Given the description of an element on the screen output the (x, y) to click on. 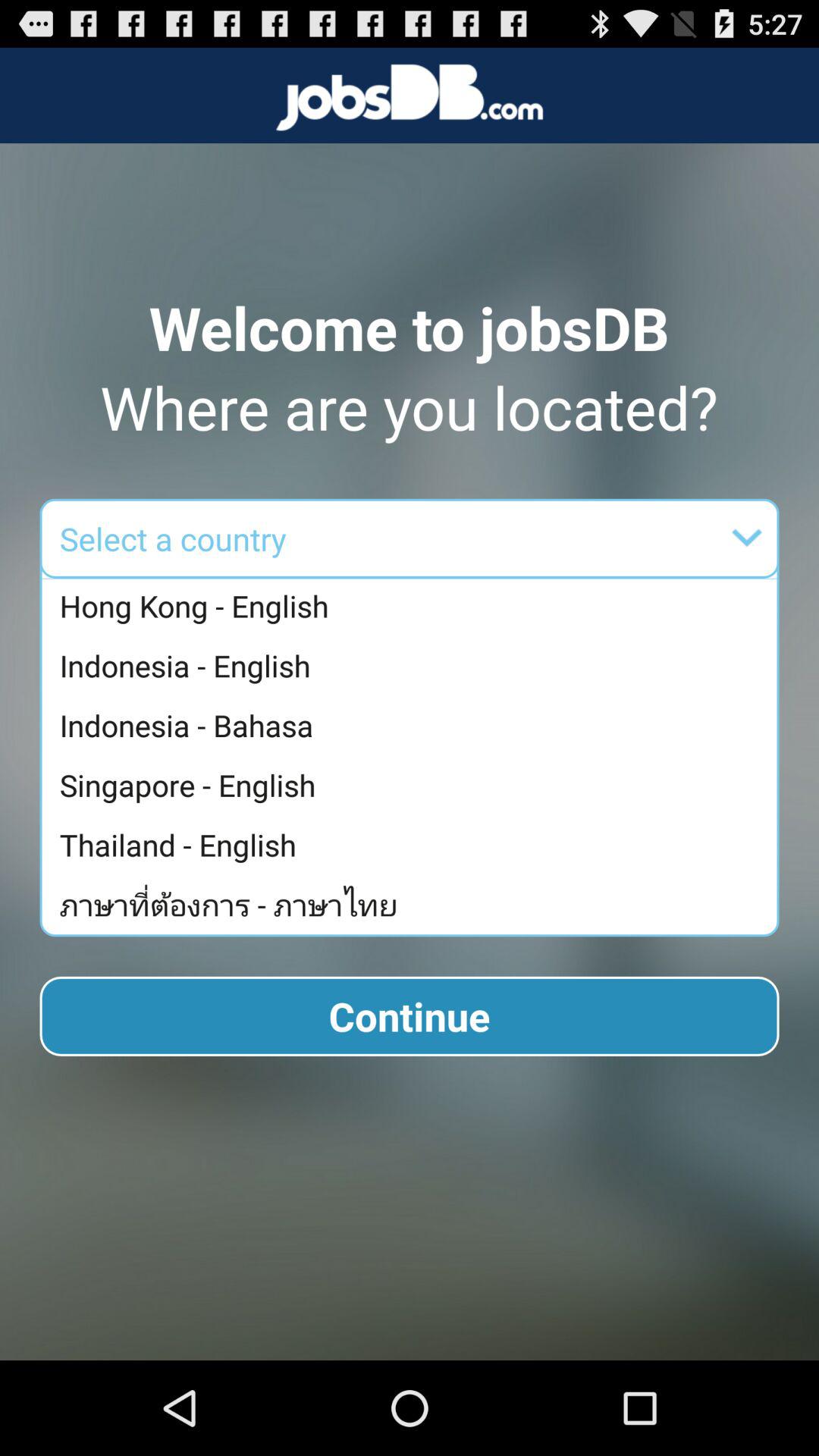
press item below hong kong - english item (413, 665)
